Given the description of an element on the screen output the (x, y) to click on. 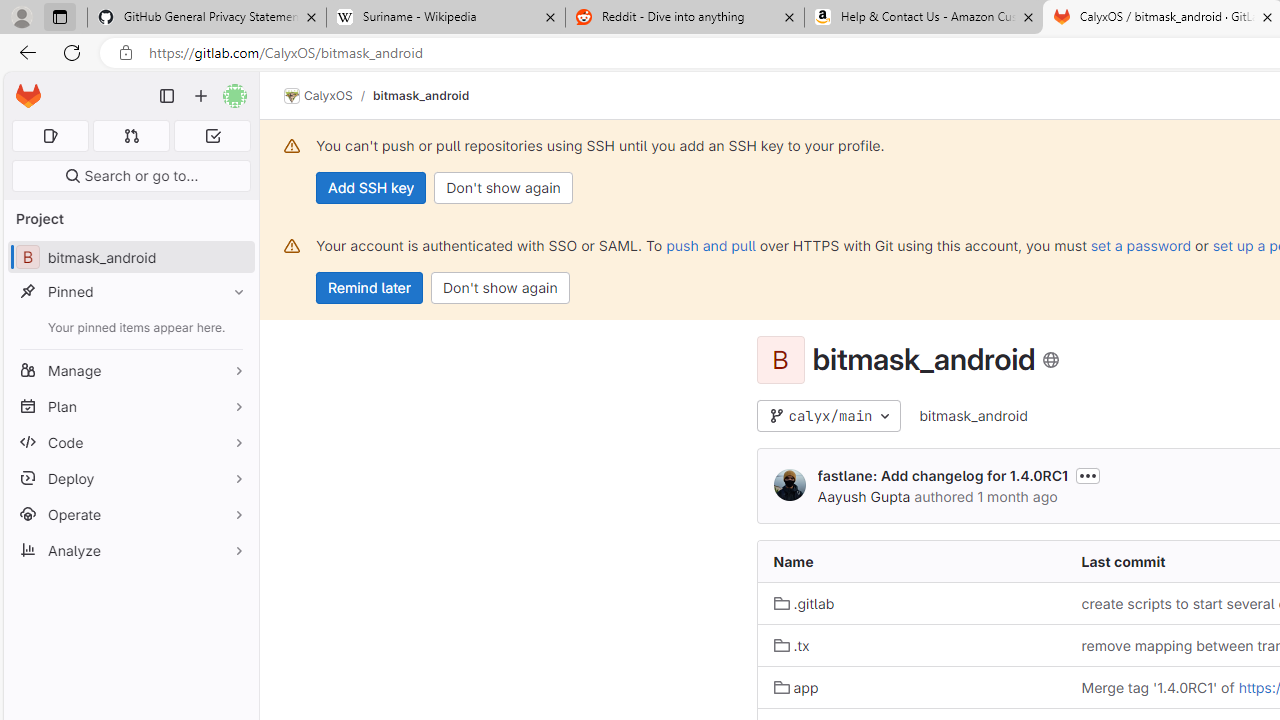
CalyxOS/ (328, 96)
Manage (130, 370)
Plan (130, 406)
Add SSH key (371, 187)
Create new... (201, 96)
Plan (130, 406)
fastlane: Add changelog for 1.4.0RC1 (941, 475)
Name (911, 561)
Aayush Gupta's avatar (789, 485)
CalyxOS (318, 96)
Remind later (369, 287)
Class: s16 gl-alert-icon gl-alert-icon-no-title (291, 246)
